Given the description of an element on the screen output the (x, y) to click on. 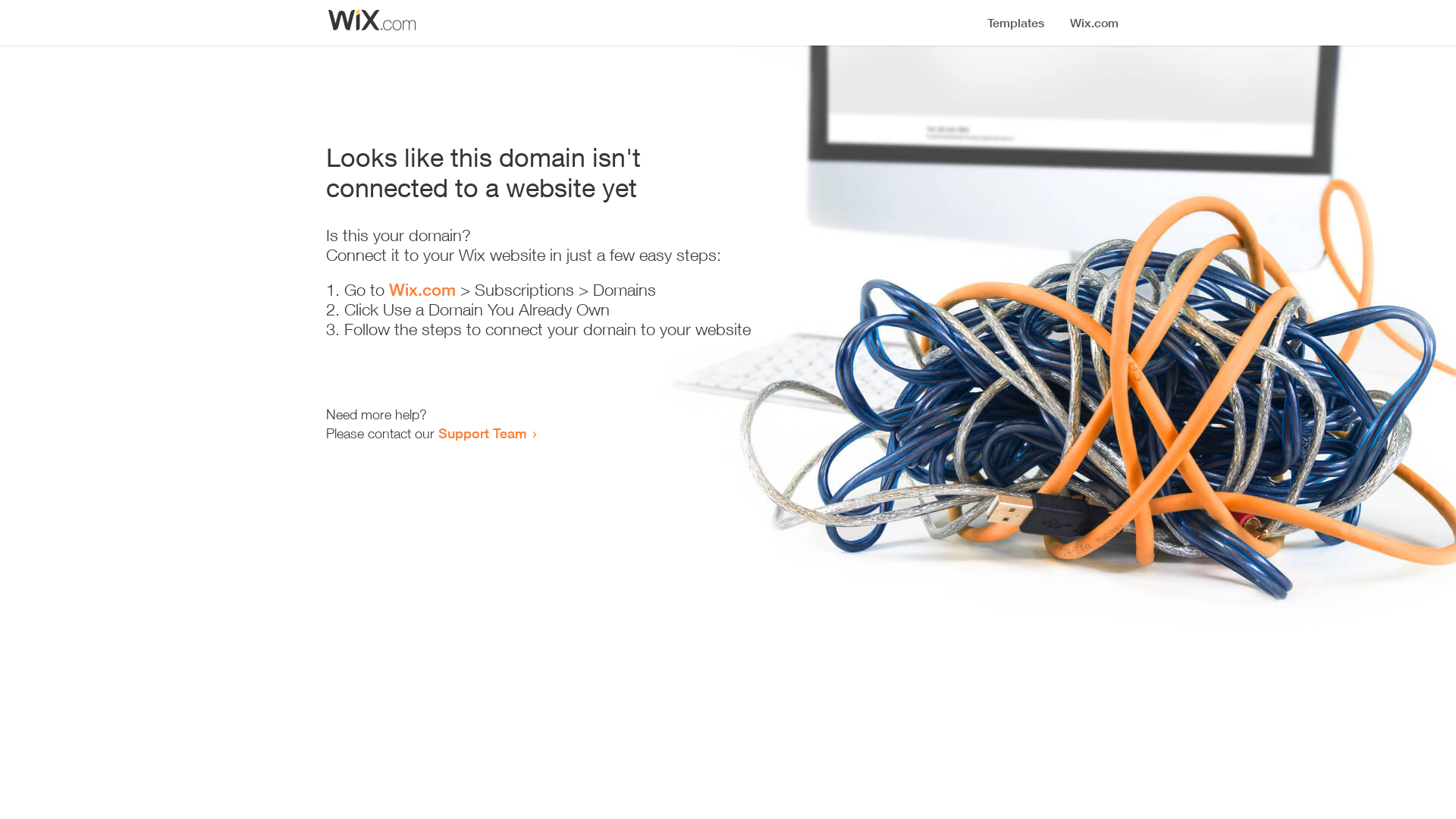
Support Team Element type: text (482, 432)
Wix.com Element type: text (422, 289)
